Given the description of an element on the screen output the (x, y) to click on. 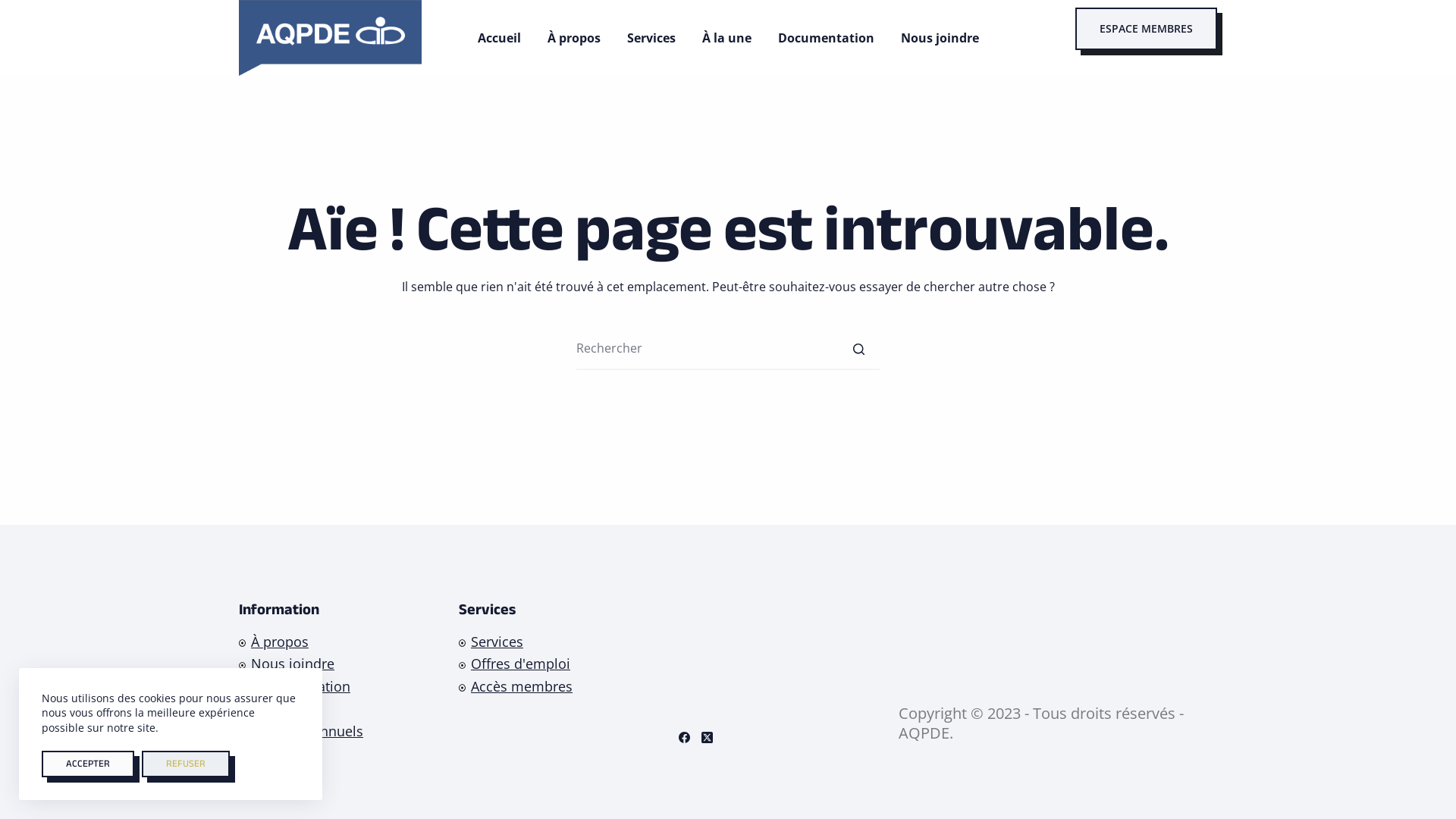
ACCEPTER Element type: text (87, 763)
Services Element type: text (496, 641)
Nous joindre Element type: text (939, 37)
Nous joindre Element type: text (292, 663)
Services Element type: text (650, 37)
Rapports annuels Element type: text (307, 730)
Accueil Element type: text (498, 37)
Documentation Element type: text (300, 686)
ESPACE MEMBRES Element type: text (1146, 28)
Passer au contenu Element type: text (15, 7)
Documentation Element type: text (825, 37)
REFUSER Element type: text (185, 763)
Offres d'emploi Element type: text (520, 663)
